Given the description of an element on the screen output the (x, y) to click on. 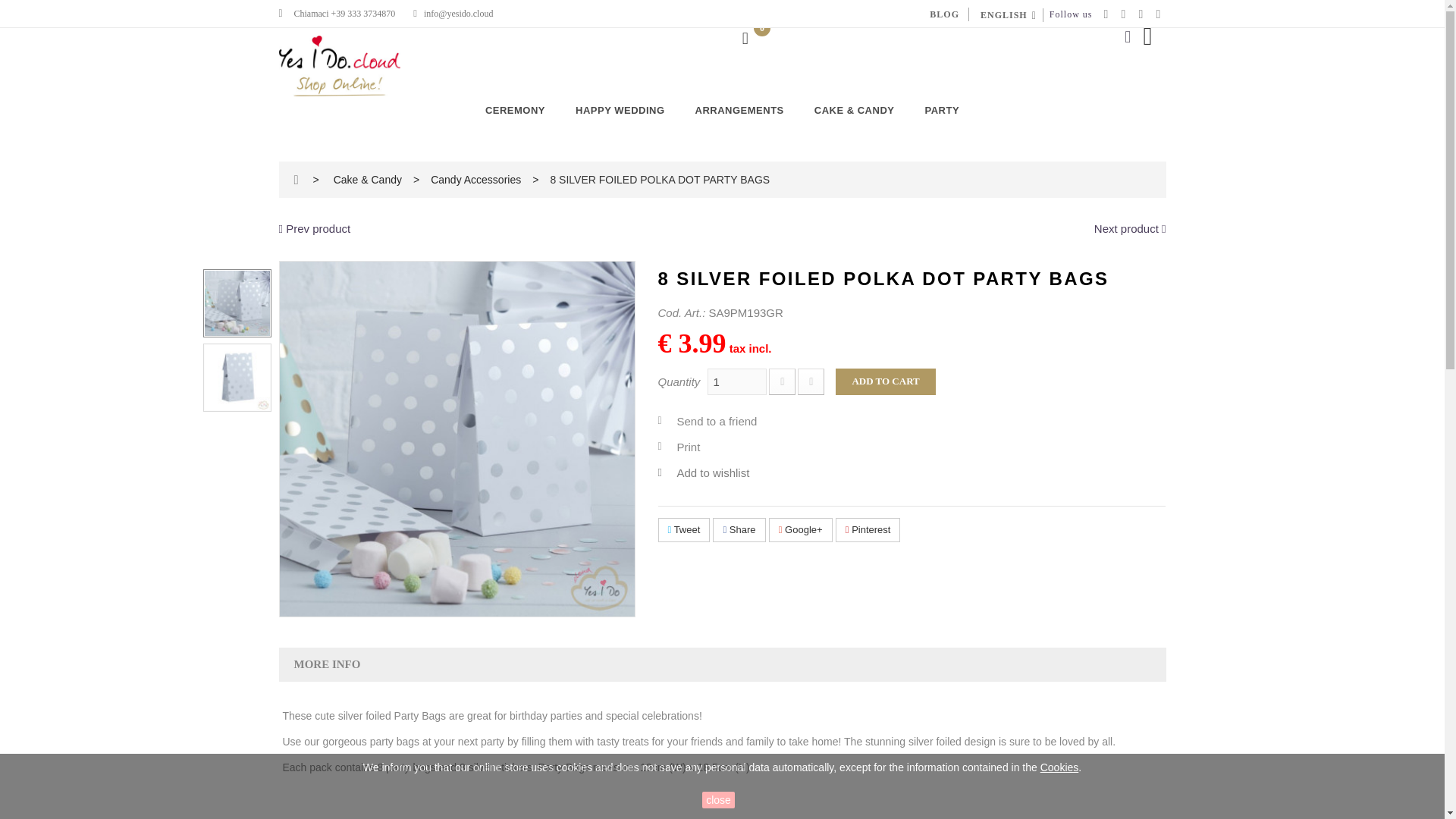
CEREMONY (515, 110)
1 (737, 381)
BLOG (944, 14)
0 (747, 40)
HAPPY WEDDING (619, 110)
Yesido.cloud (339, 66)
